Given the description of an element on the screen output the (x, y) to click on. 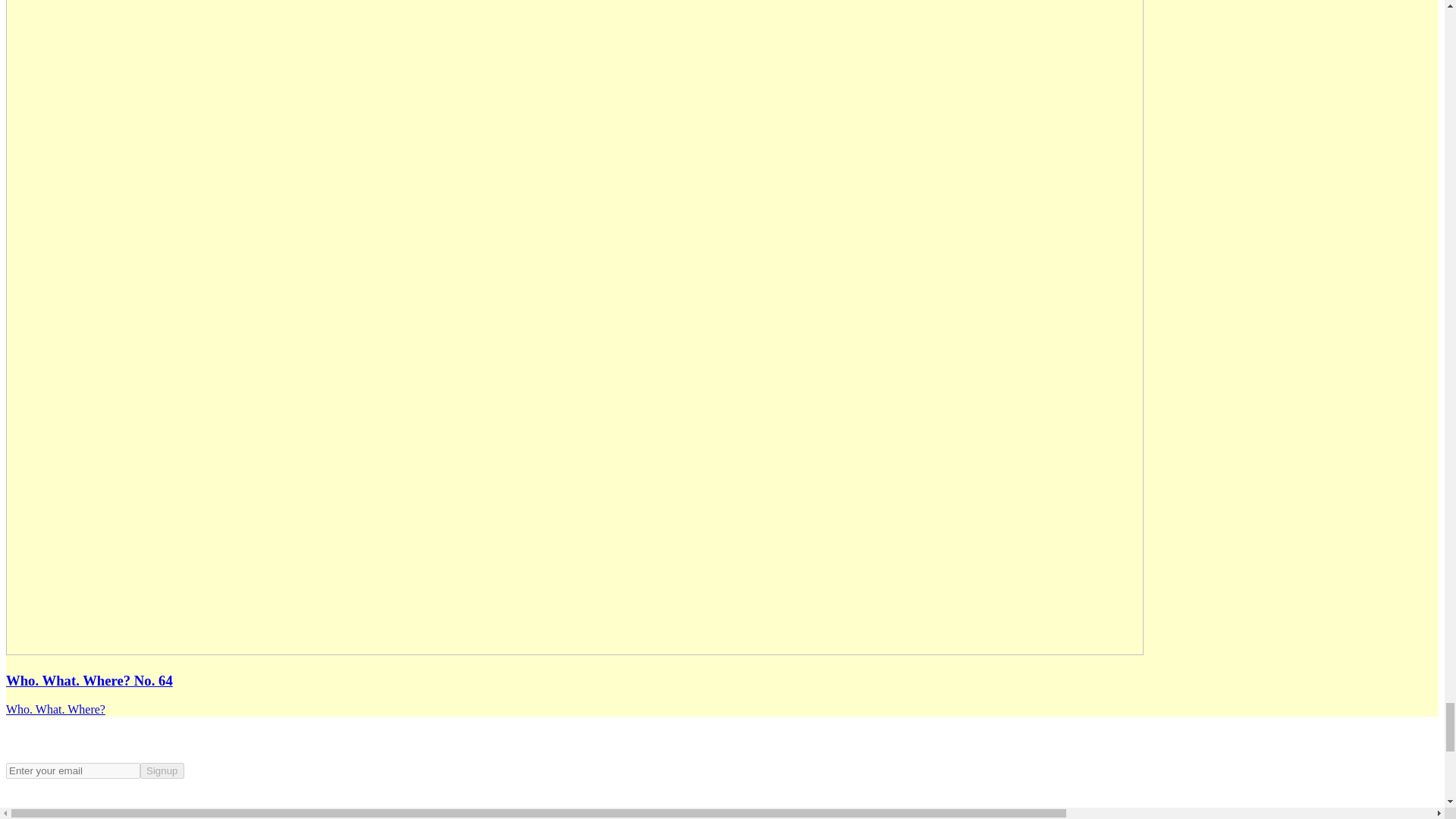
Who. What. Where? No. 64 (89, 680)
Signup (161, 770)
Who. What. Where? (54, 708)
